Given the description of an element on the screen output the (x, y) to click on. 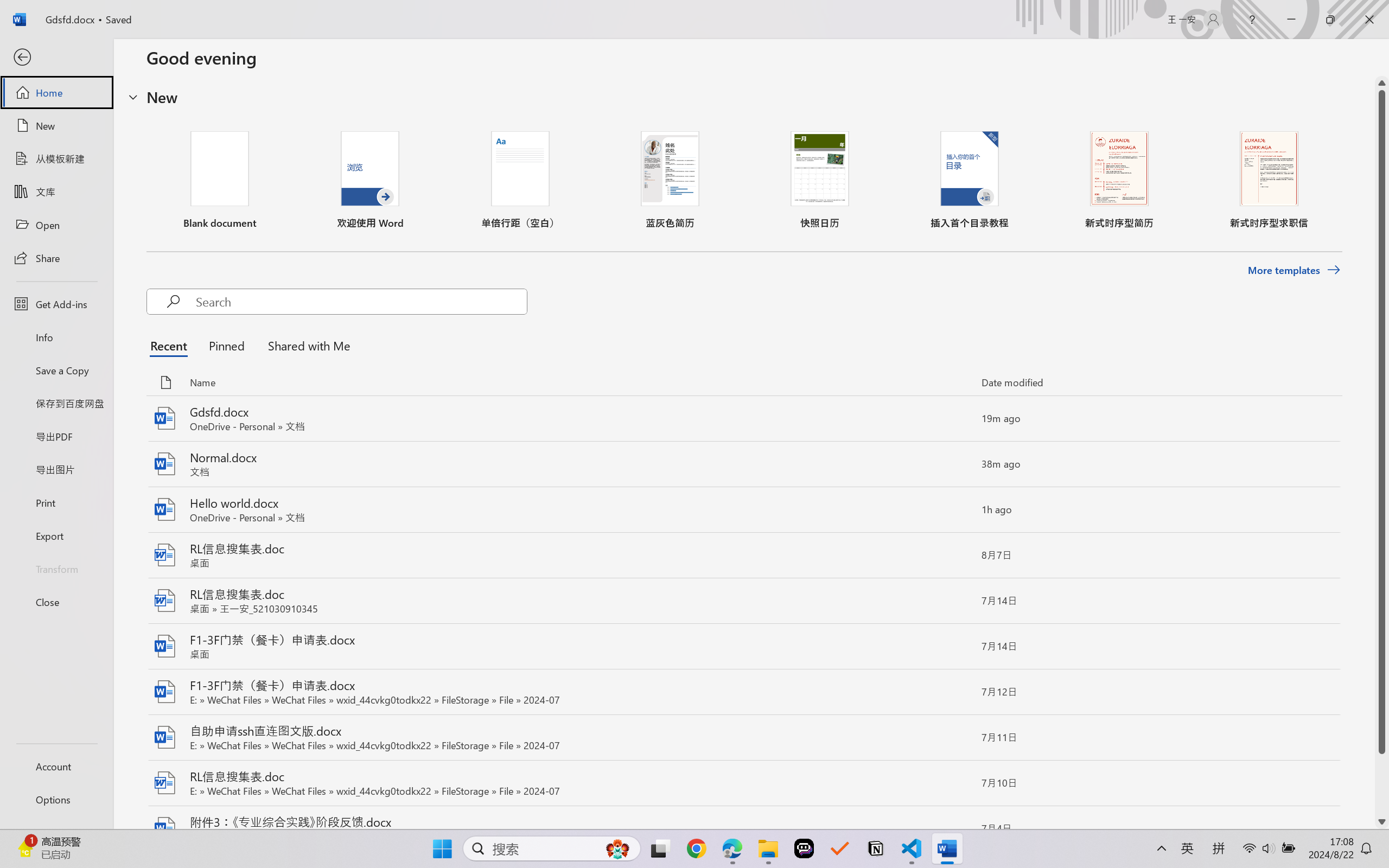
Record button in top bar (1263, 615)
Themes (231, 62)
Slide Number (514, 386)
Effects (274, 74)
Insert Layout (49, 62)
Title (187, 52)
